Given the description of an element on the screen output the (x, y) to click on. 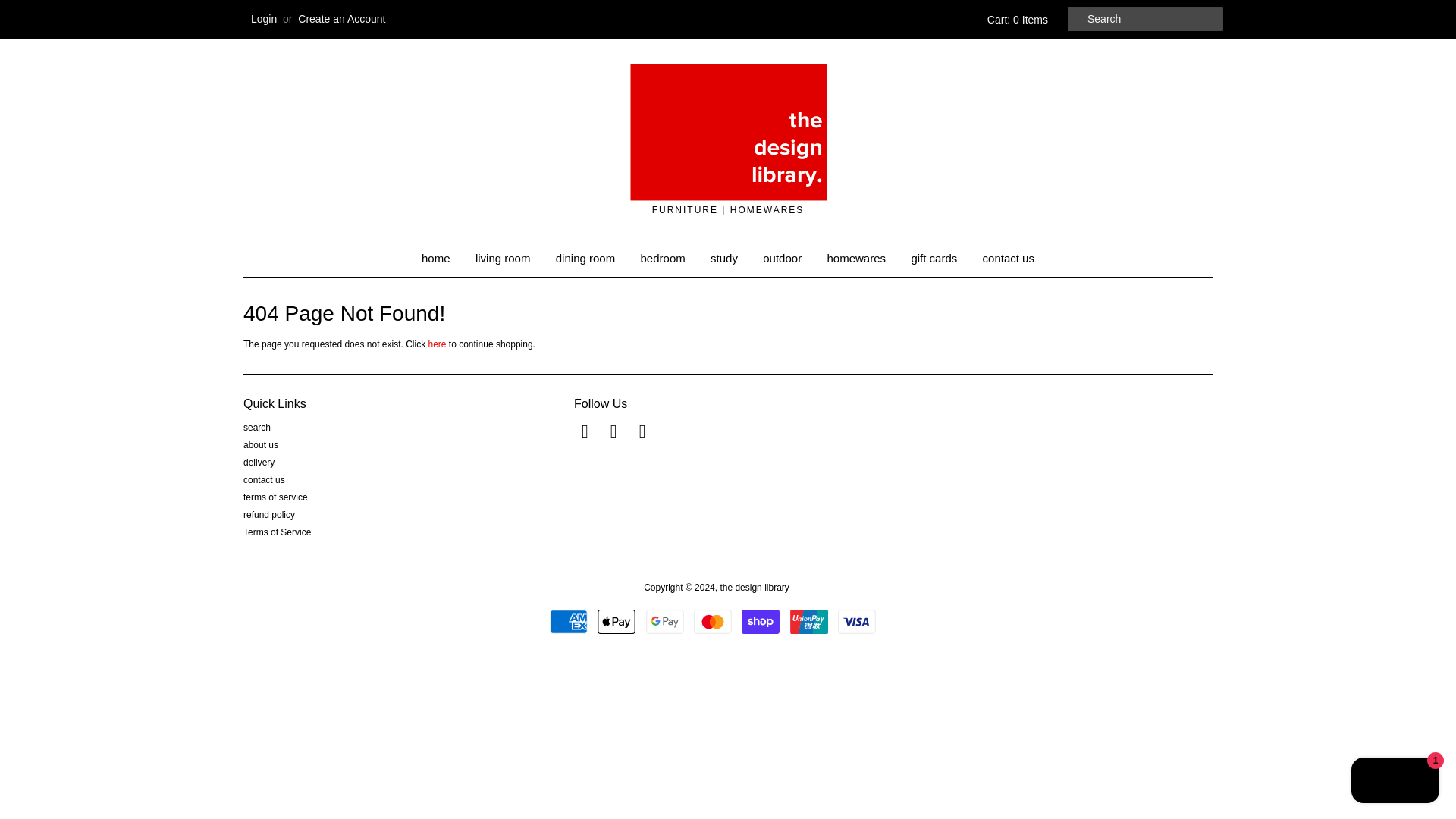
search (256, 427)
delivery (259, 462)
about us (260, 444)
Terms of Service (277, 532)
terms of service  (275, 497)
refund policy (269, 514)
contact us (264, 480)
Create an Account (341, 19)
Login (263, 19)
Cart (1015, 19)
Cart: 0 Items (1015, 19)
